Given the description of an element on the screen output the (x, y) to click on. 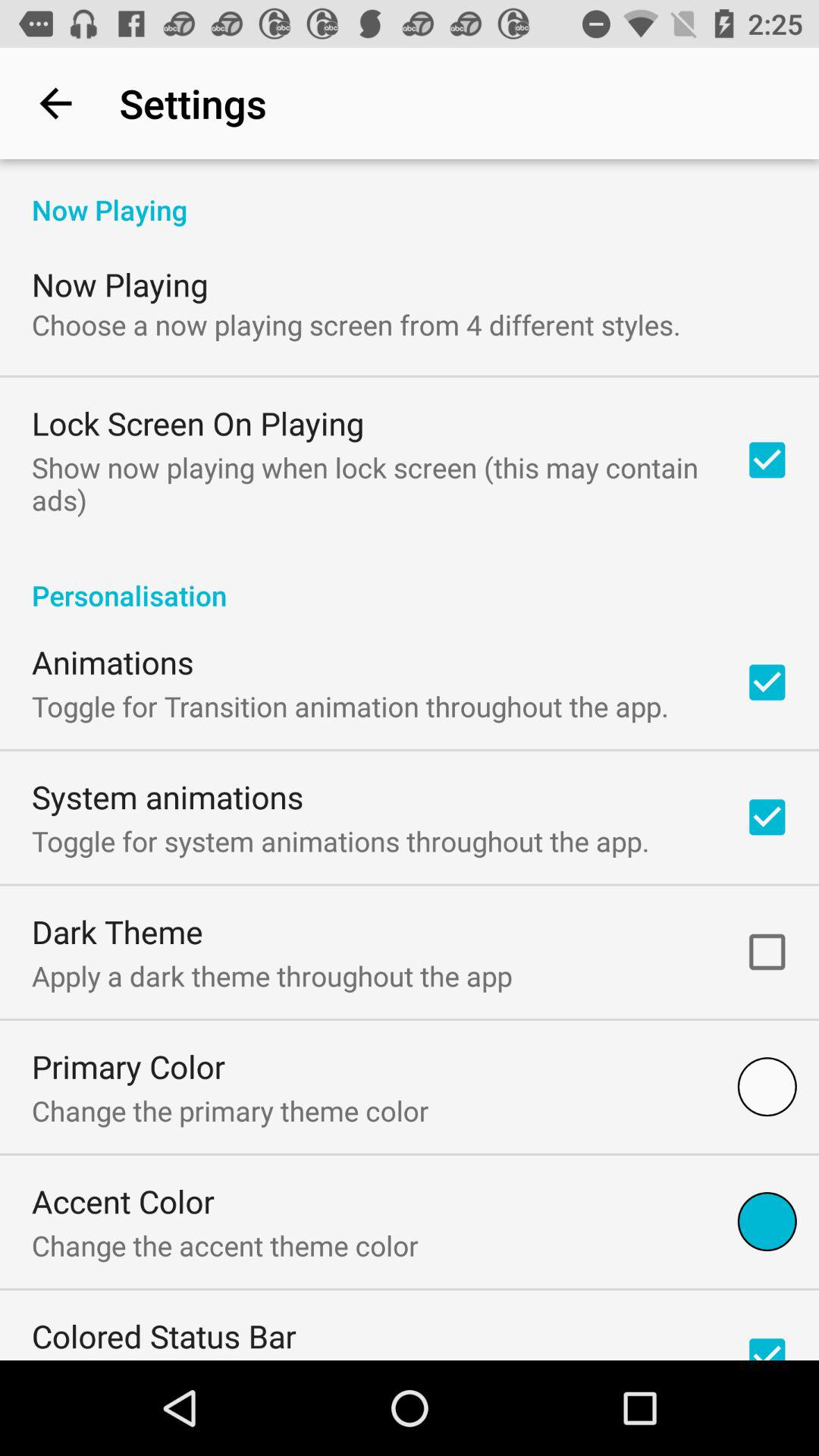
turn on icon above lock screen on icon (355, 324)
